Given the description of an element on the screen output the (x, y) to click on. 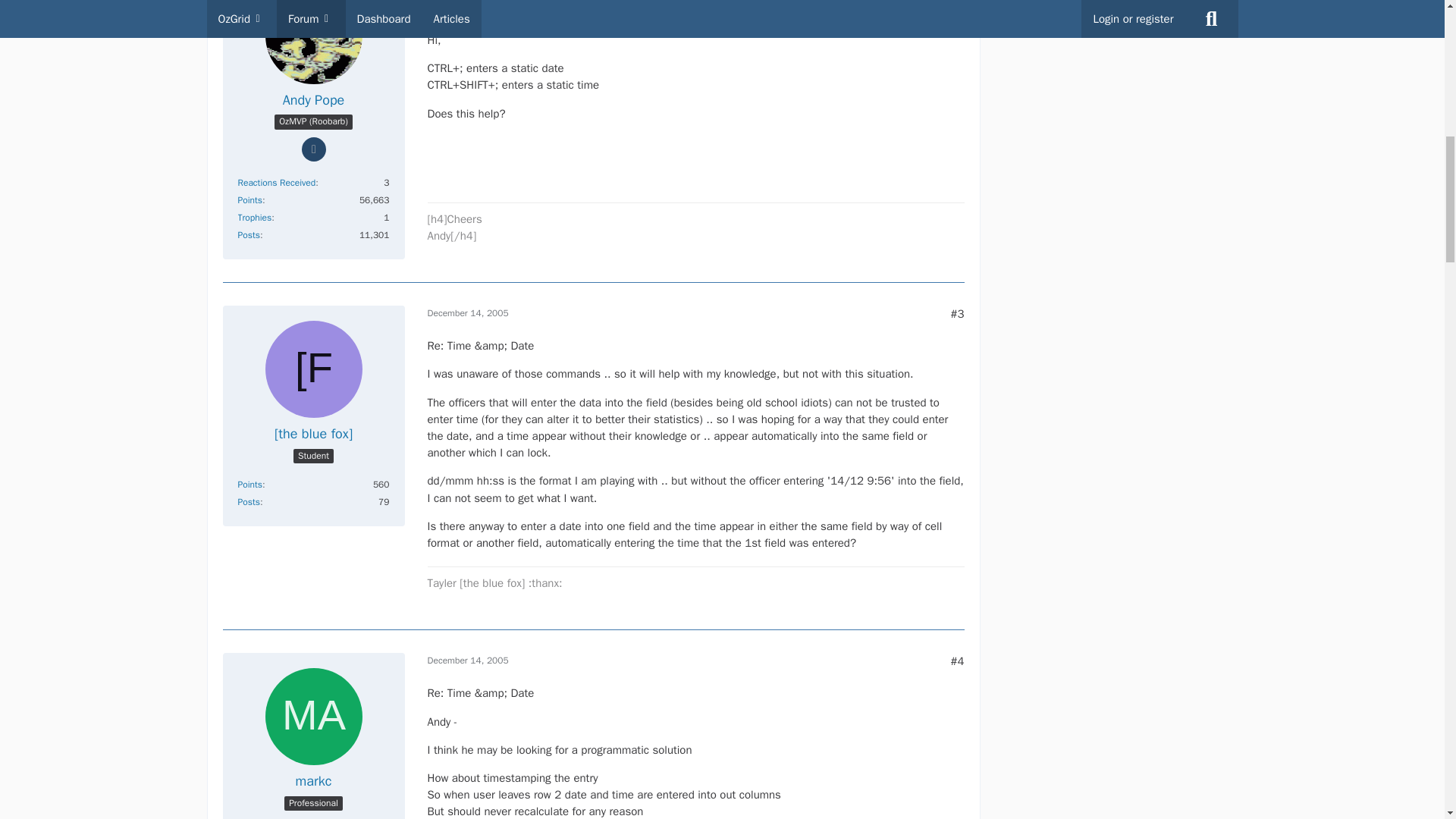
Points (250, 200)
Posts (249, 234)
Andy Pope (313, 99)
Trophies (255, 217)
Reactions Received (276, 182)
X (1434, 760)
